Given the description of an element on the screen output the (x, y) to click on. 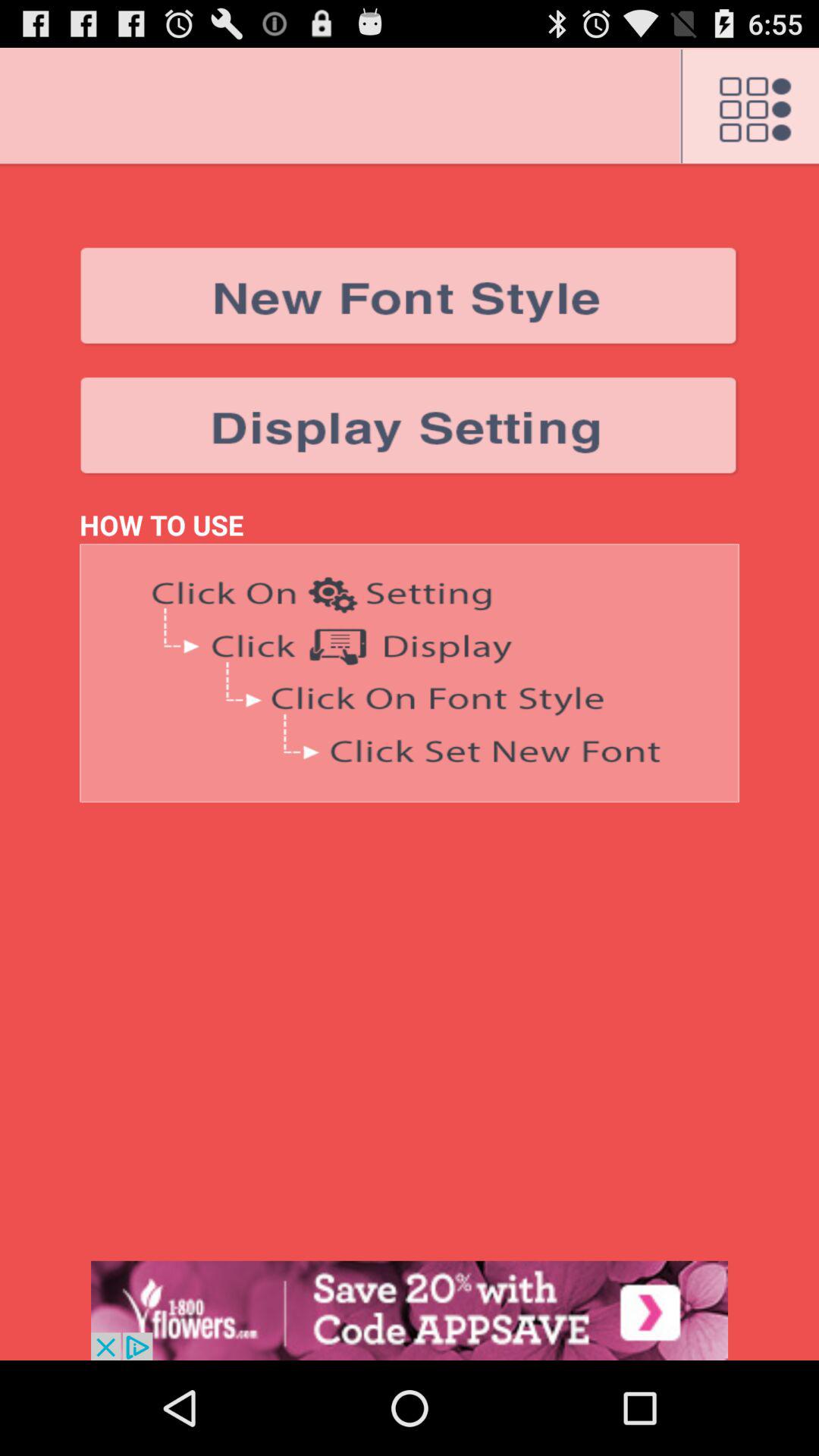
view advertisement (409, 1310)
